Given the description of an element on the screen output the (x, y) to click on. 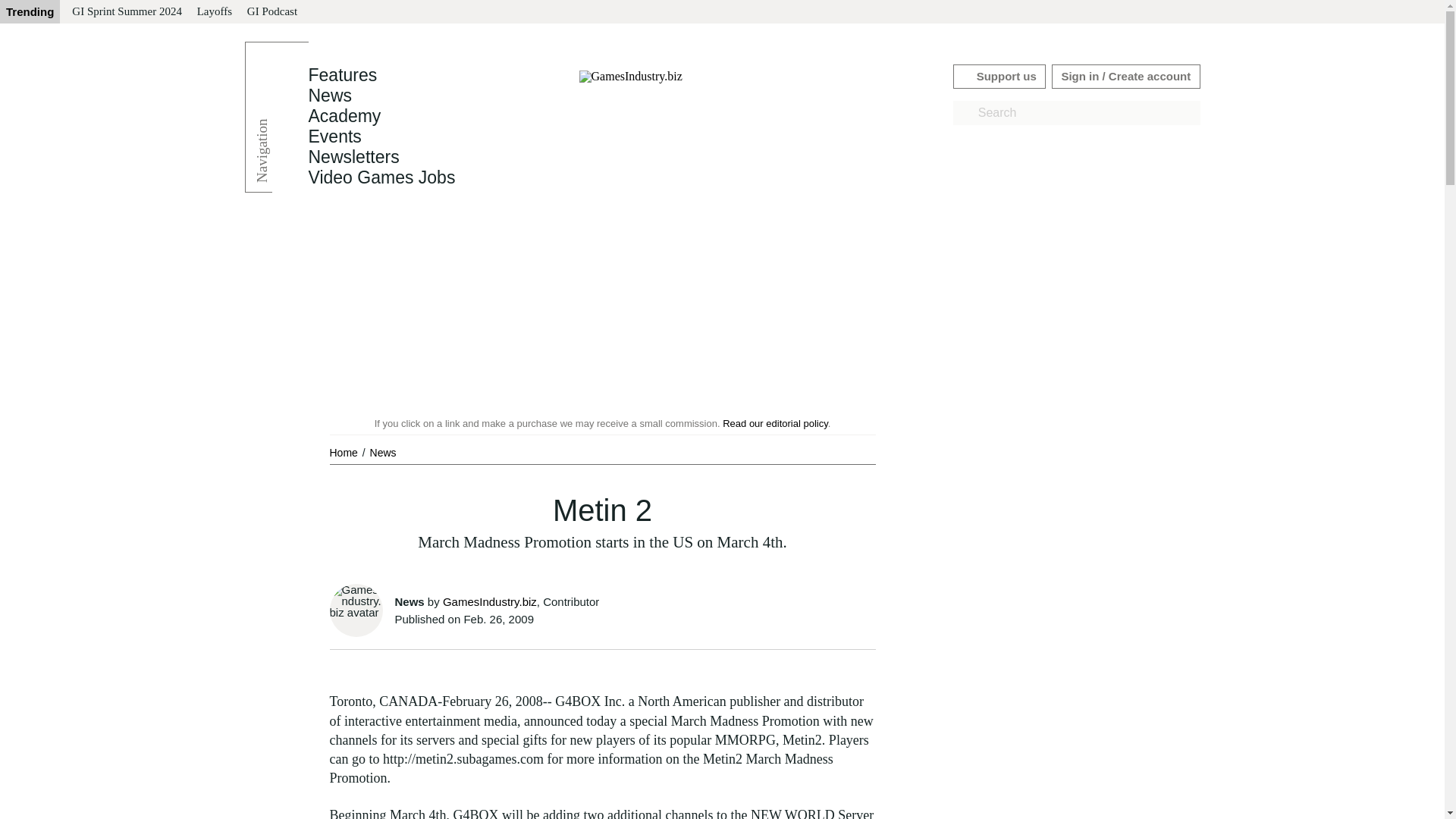
News (329, 95)
Layoffs (214, 11)
Features (342, 75)
Events (334, 136)
News (382, 452)
Support us (999, 75)
News (382, 452)
GI Sprint Summer 2024 (126, 11)
Academy (343, 116)
Home (344, 452)
Newsletters (352, 157)
GI Sprint Summer 2024 (126, 11)
Read our editorial policy (775, 423)
Academy (343, 116)
News (329, 95)
